Given the description of an element on the screen output the (x, y) to click on. 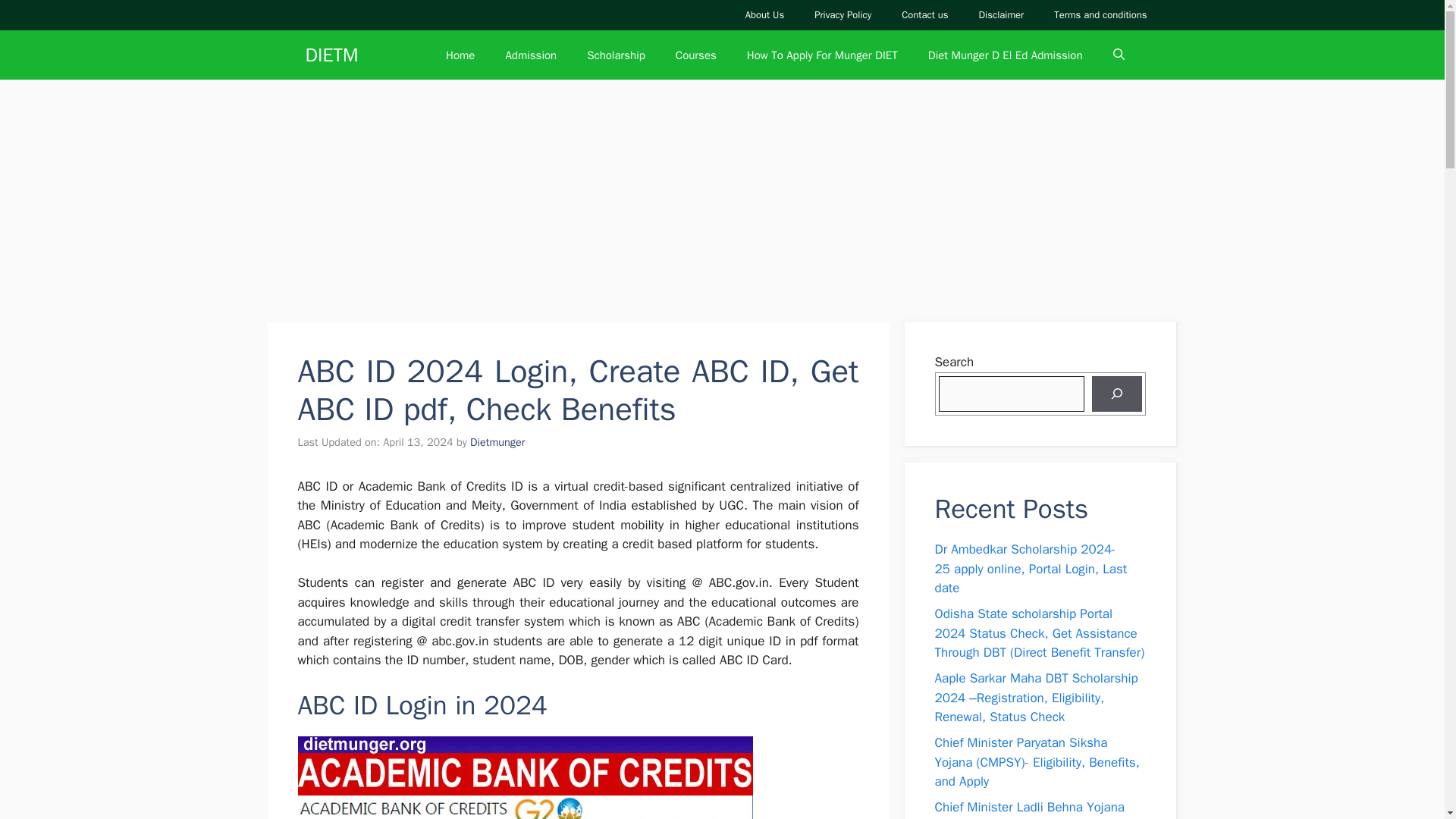
View all posts by Dietmunger (497, 441)
Privacy Policy (842, 15)
Admission (530, 53)
Diet Munger D El Ed Admission (1004, 53)
Disclaimer (1000, 15)
DIETM (331, 54)
Home (459, 53)
Terms and conditions (1100, 15)
About Us (764, 15)
